Given the description of an element on the screen output the (x, y) to click on. 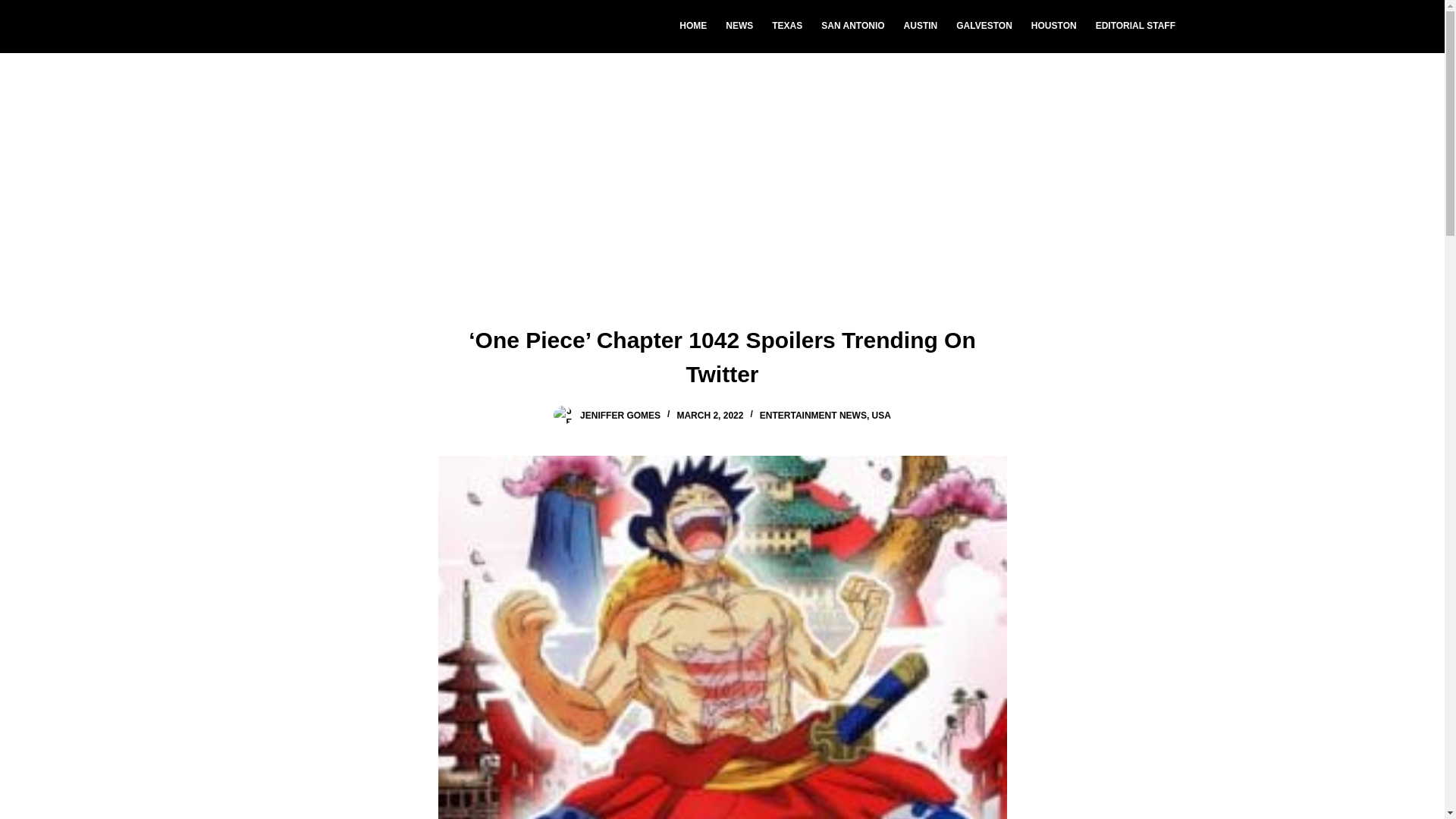
JENIFFER GOMES (620, 415)
GALVESTON (984, 26)
USA (881, 415)
EDITORIAL STAFF (1135, 26)
Skip to content (15, 7)
Posts by Jeniffer Gomes (620, 415)
HOUSTON (1054, 26)
SAN ANTONIO (852, 26)
ENTERTAINMENT NEWS (813, 415)
AUSTIN (920, 26)
